Given the description of an element on the screen output the (x, y) to click on. 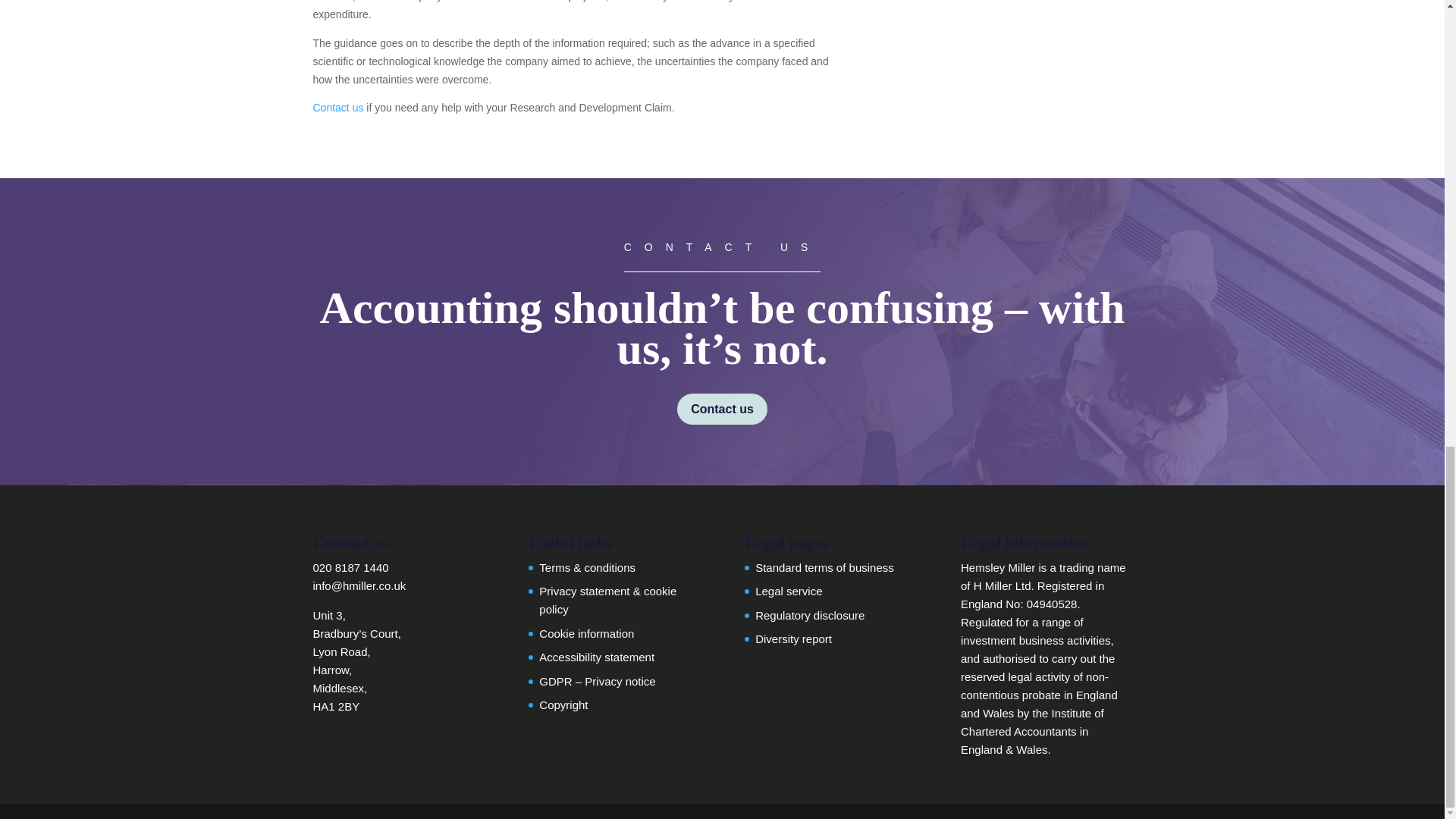
Email Hemsley Miller (359, 585)
